Given the description of an element on the screen output the (x, y) to click on. 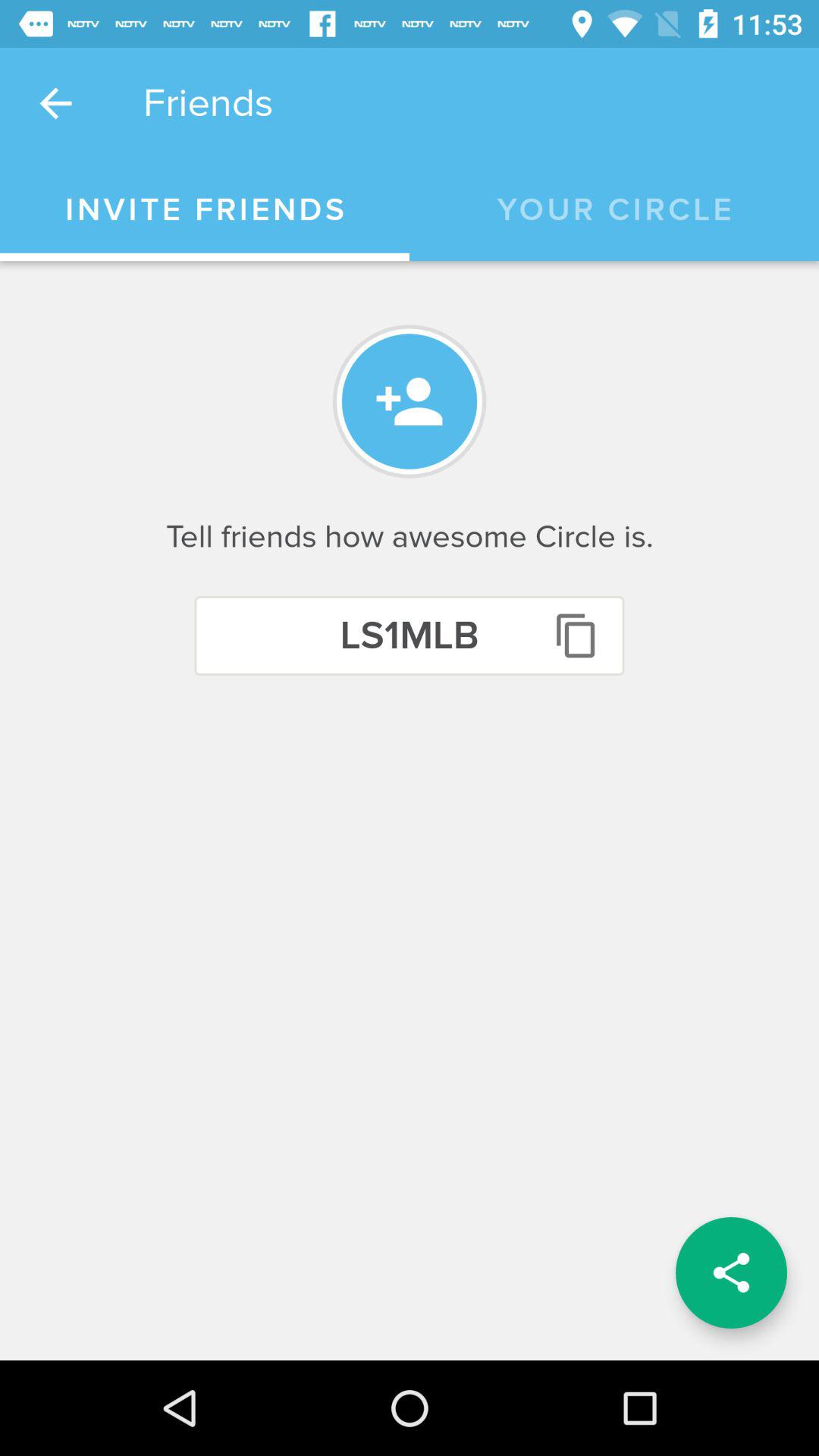
press the ls1mlb icon (409, 635)
